Given the description of an element on the screen output the (x, y) to click on. 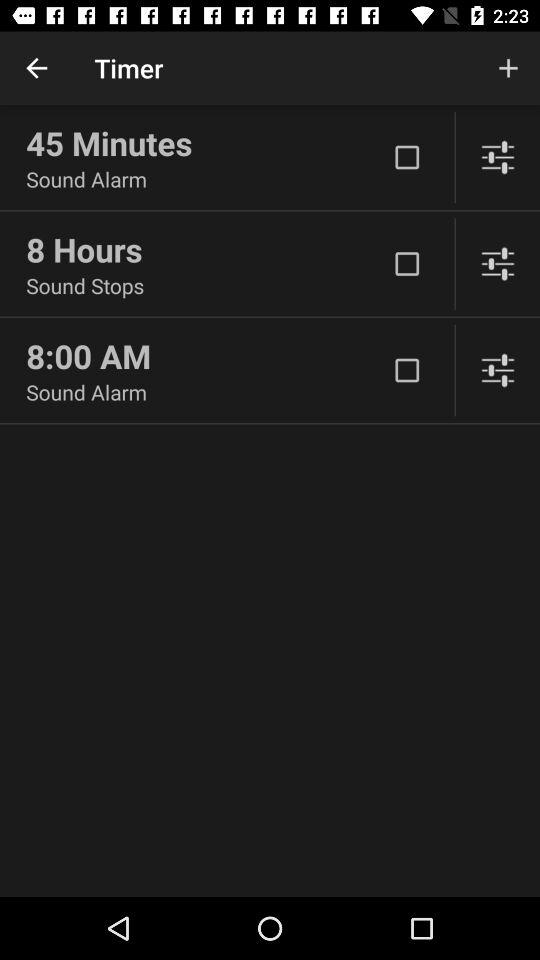
scroll until 8 hours icon (206, 249)
